Given the description of an element on the screen output the (x, y) to click on. 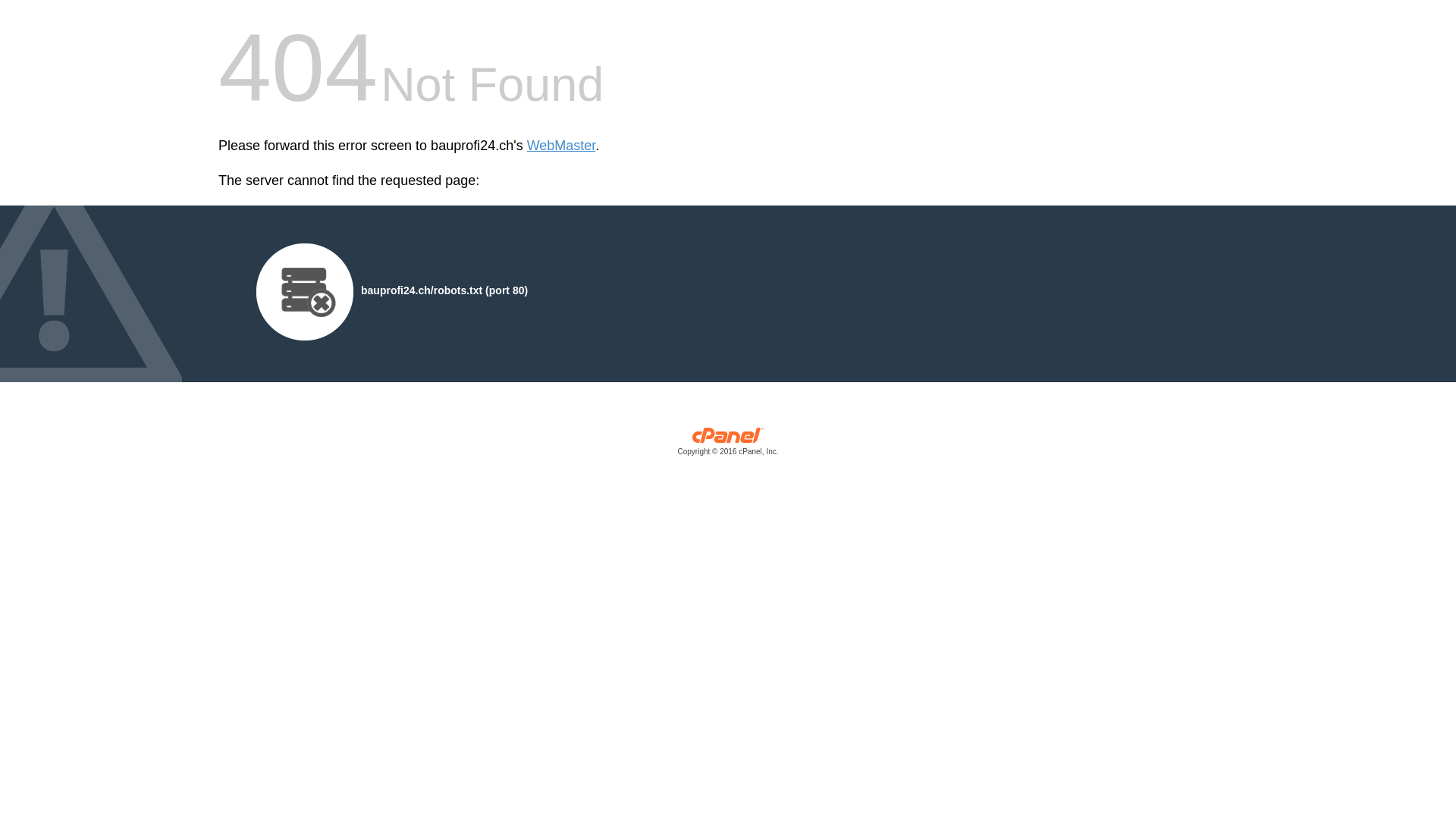
WebMaster Element type: text (561, 145)
